Given the description of an element on the screen output the (x, y) to click on. 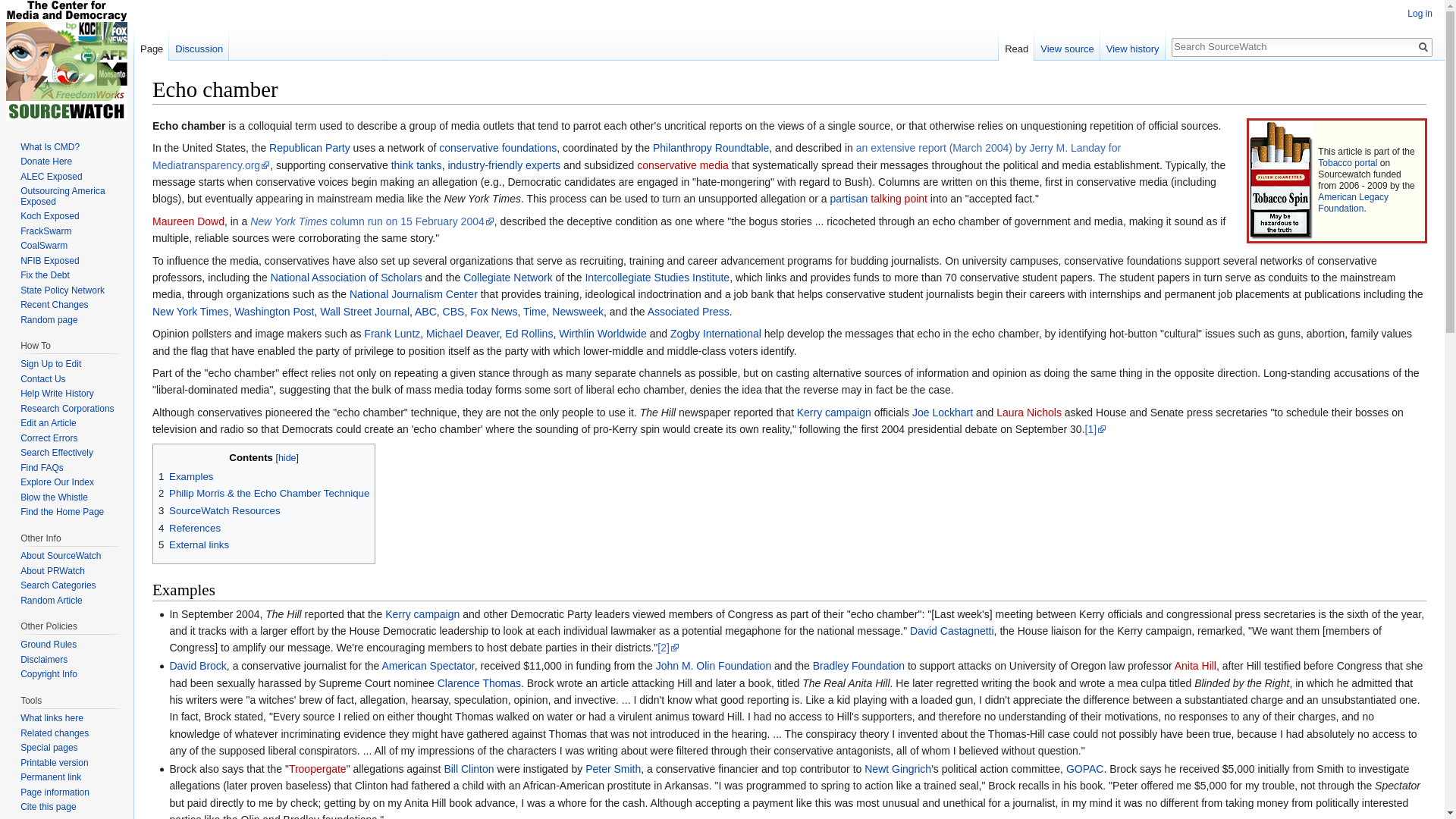
Maureen Dowd (188, 221)
Collegiate Network (508, 277)
Search (1423, 46)
conservative media (683, 164)
American Legacy Foundation (1353, 202)
industry-friendly experts (503, 164)
New York Times column run on 15 February 2004 (372, 221)
Collegiate Network (508, 277)
Industry-friendly experts (503, 164)
